Given the description of an element on the screen output the (x, y) to click on. 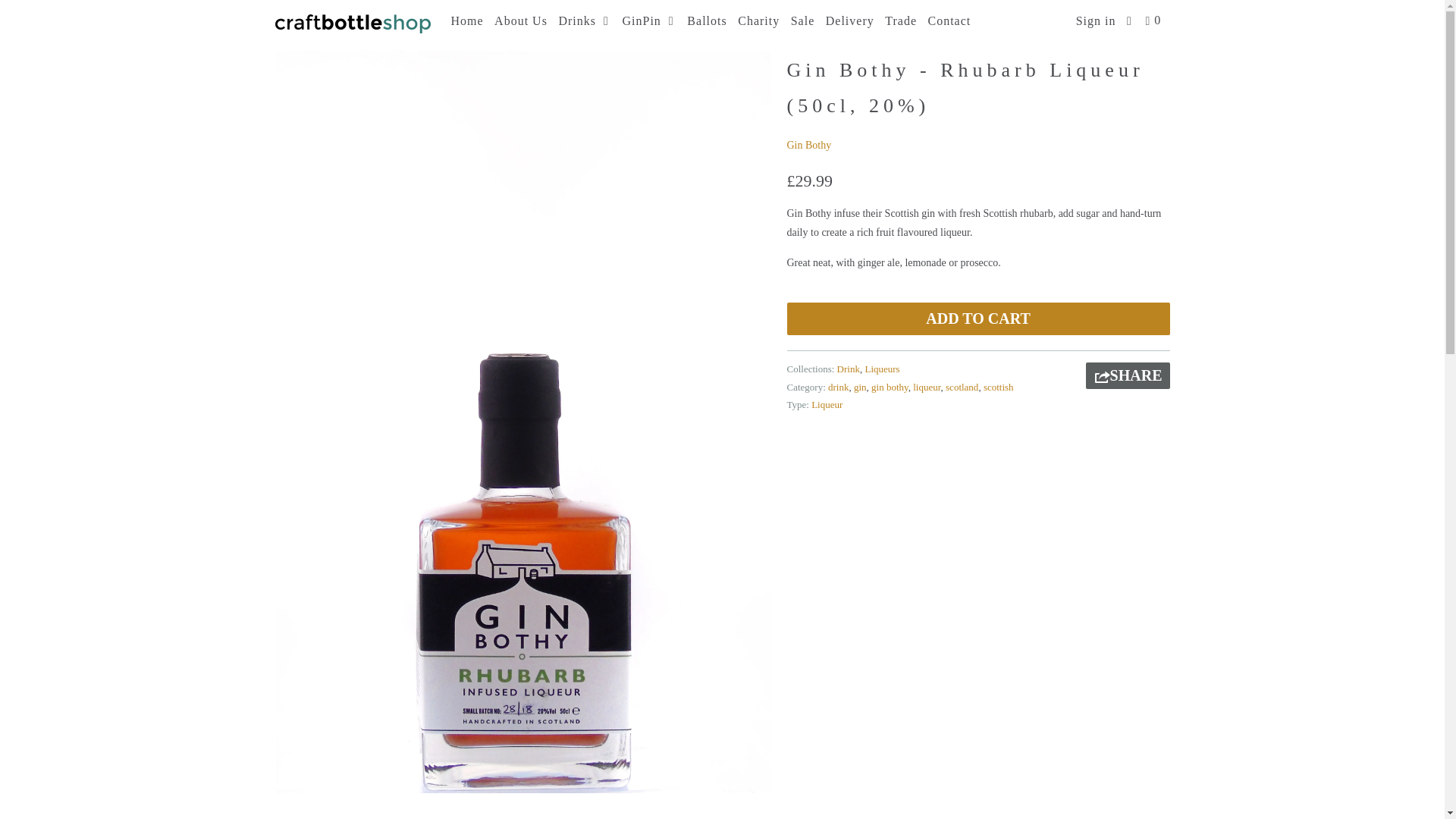
Products tagged gin bothy (889, 387)
Drink (848, 368)
Craft Bottle Shop (352, 24)
Products tagged gin (859, 387)
Products tagged drink (838, 387)
Products tagged scotland (961, 387)
Liqueur (826, 404)
Liqueurs (881, 368)
Craft Bottle Shop (286, 30)
Products (327, 30)
Products tagged scottish (998, 387)
Products tagged liqueur (926, 387)
My Account  (1096, 21)
Gin Bothy (809, 144)
